Given the description of an element on the screen output the (x, y) to click on. 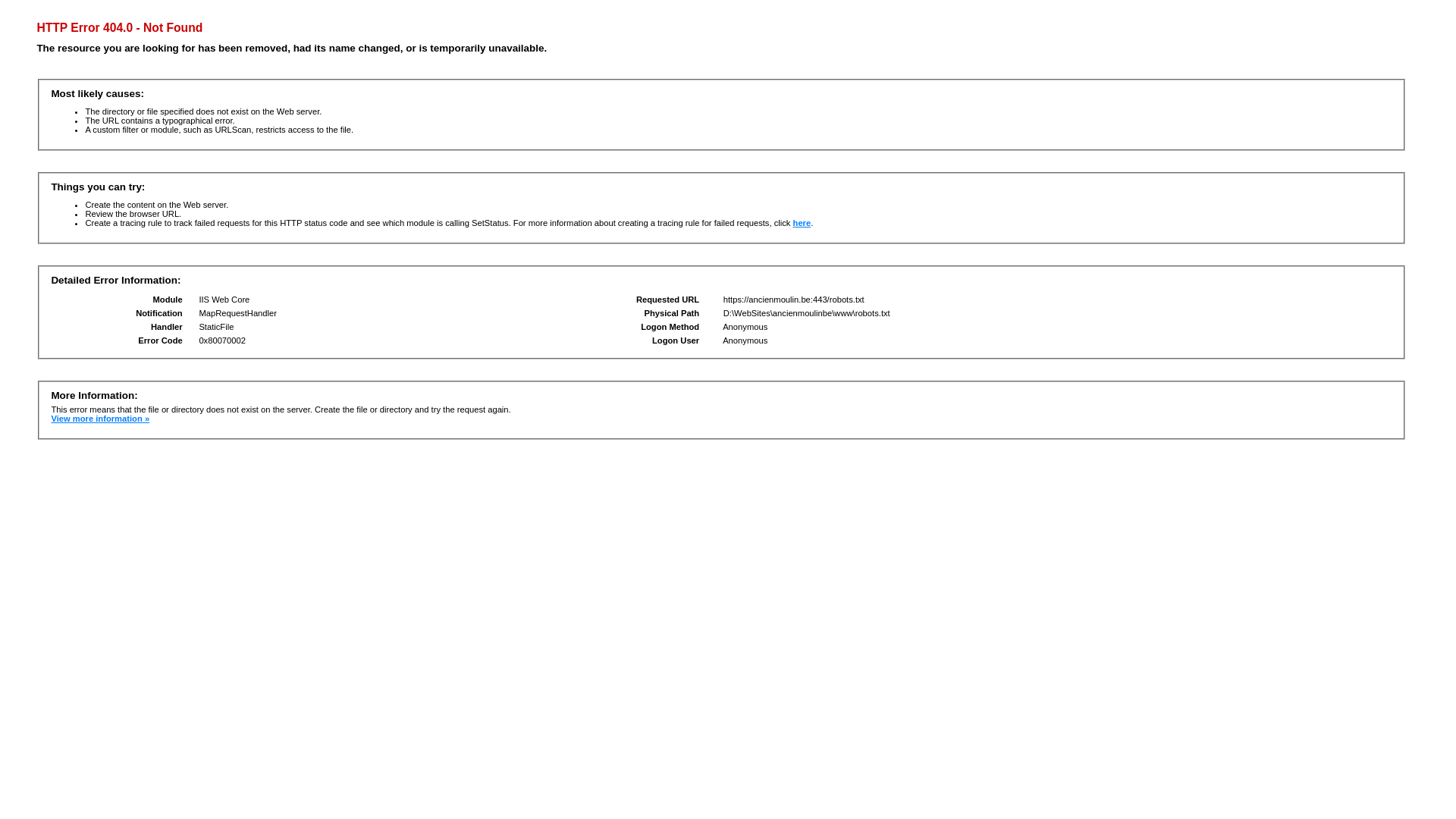
here Element type: text (802, 222)
